Given the description of an element on the screen output the (x, y) to click on. 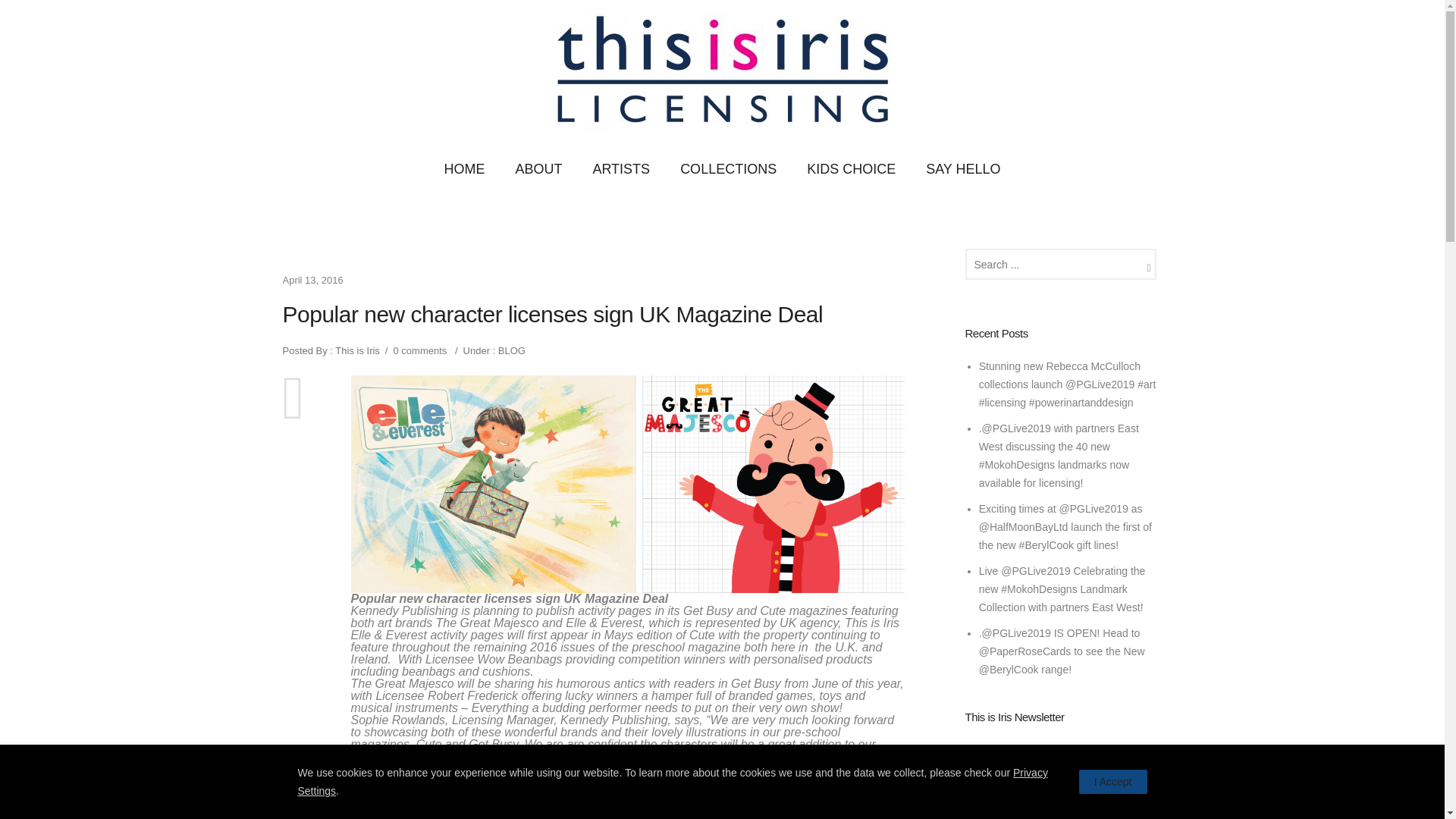
ABOUT (537, 169)
ARTISTS (620, 169)
KIDS CHOICE (851, 169)
0 comments (419, 350)
COLLECTIONS (728, 169)
HOME (463, 169)
ARTISTS (620, 169)
ABOUT (537, 169)
SAY HELLO (962, 169)
BLOG (510, 350)
KIDS CHOICE (851, 169)
HOME (463, 169)
View all posts in BLOG (510, 350)
April 13, 2016 (312, 279)
SAY HELLO (962, 169)
